Given the description of an element on the screen output the (x, y) to click on. 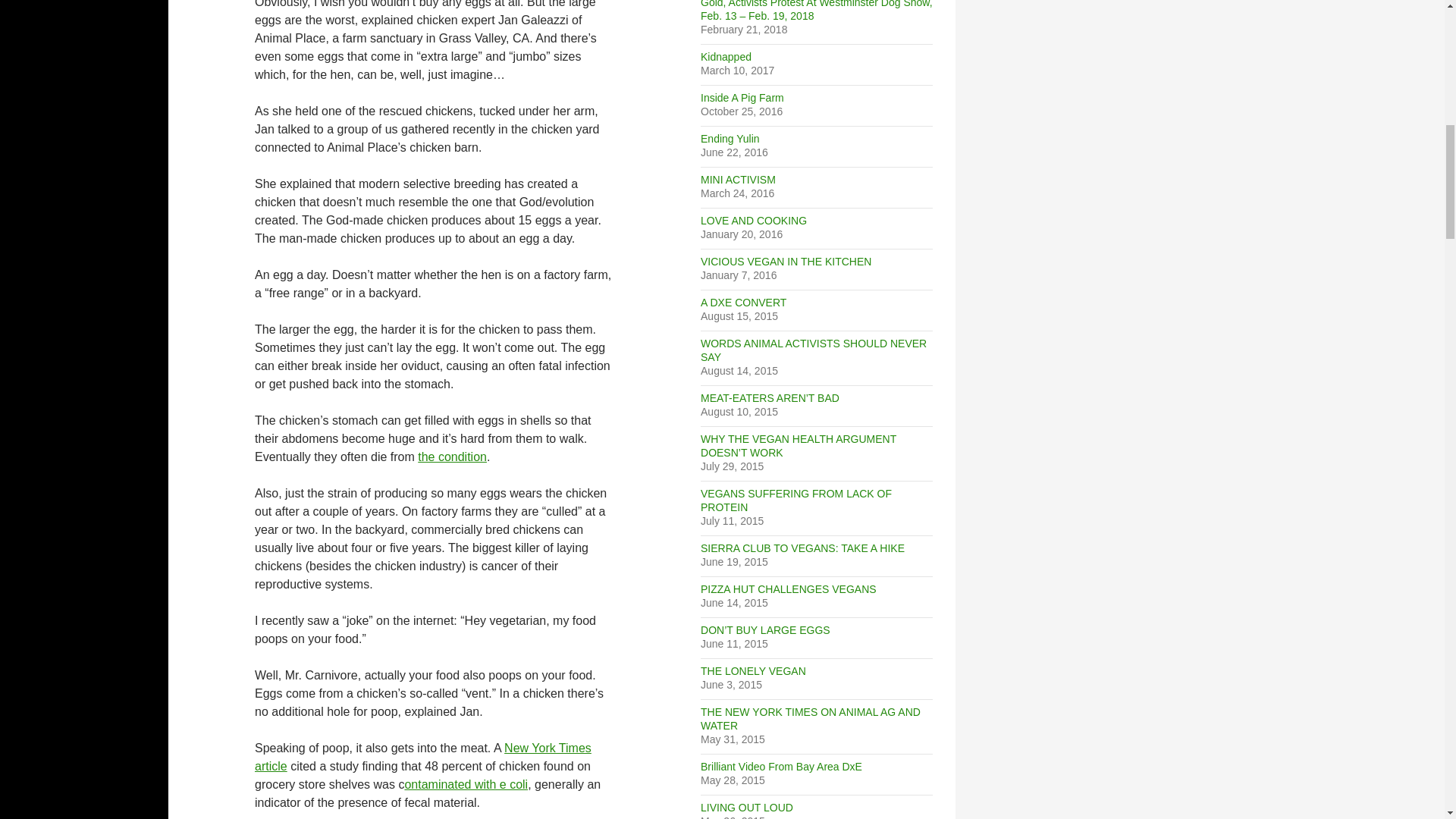
ontaminated with e coli (465, 784)
New York Times article (422, 757)
the condition (451, 456)
